Given the description of an element on the screen output the (x, y) to click on. 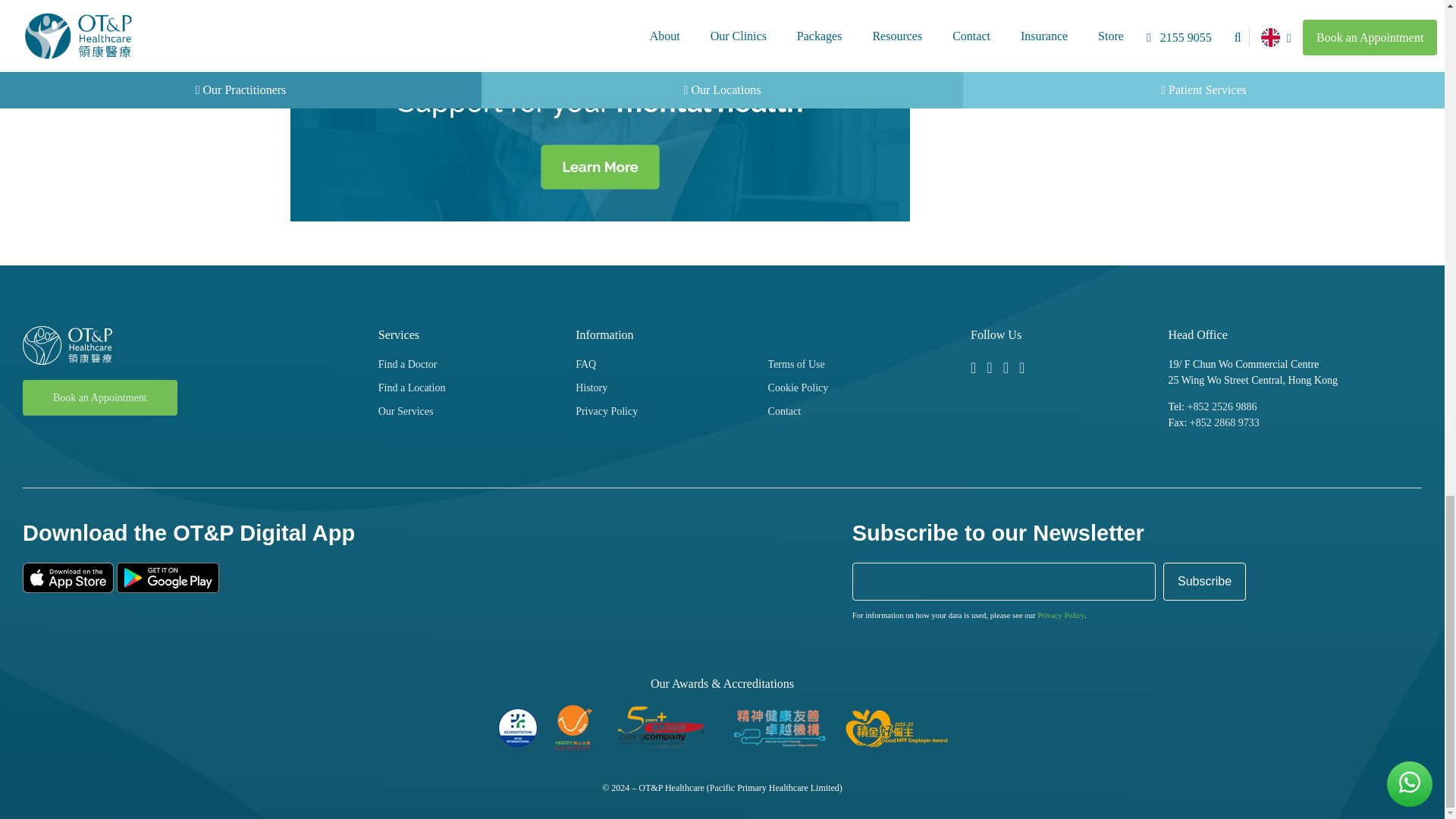
Subscribe (1204, 581)
logo-white (67, 344)
Book an Appointment (100, 397)
